Given the description of an element on the screen output the (x, y) to click on. 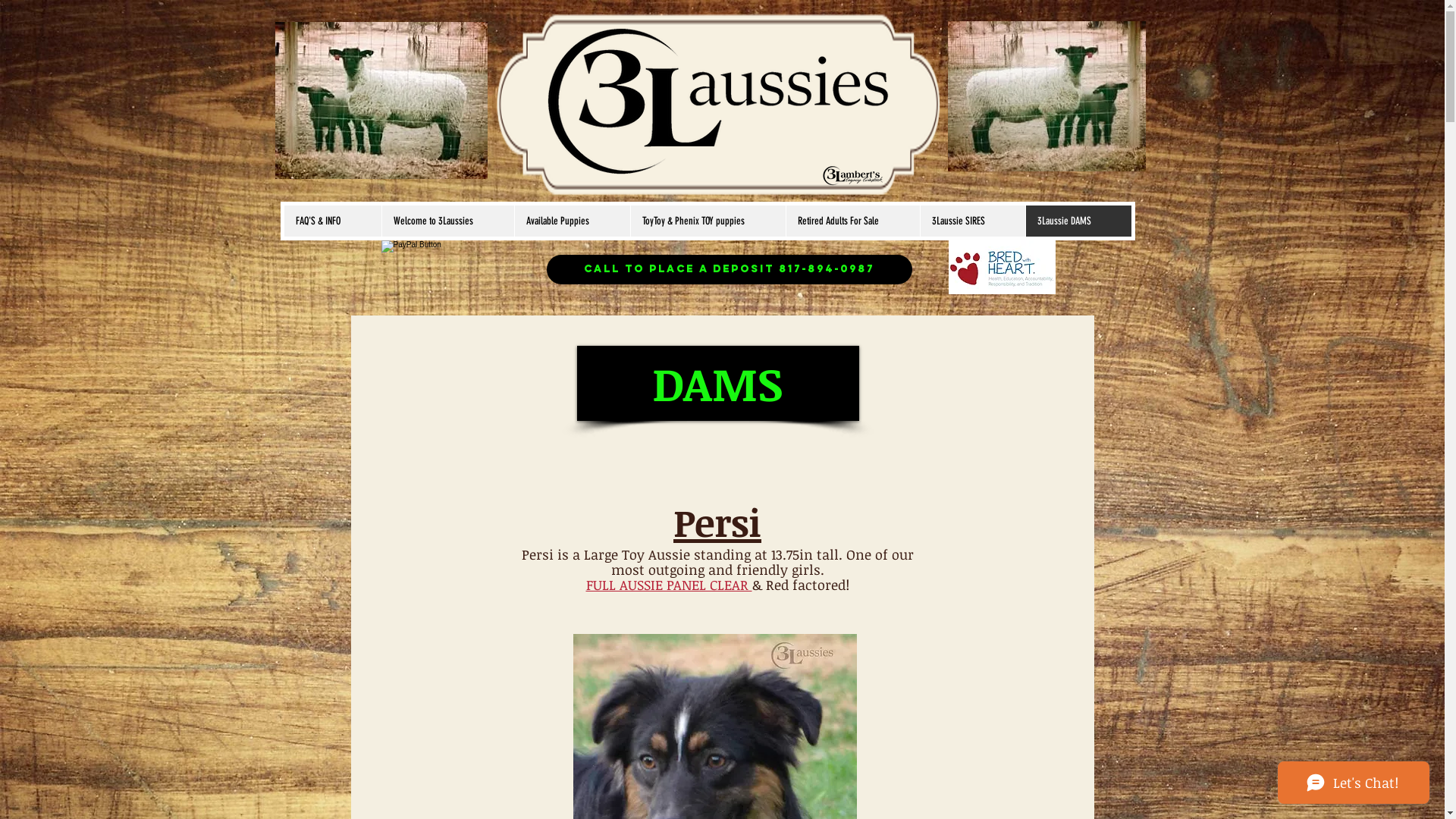
Available Puppies Element type: text (572, 220)
FAQ'S & INFO Element type: text (331, 220)
Welcome to 3Laussies Element type: text (446, 220)
images-4.jpeg Element type: hover (380, 99)
3Laussie SIRES Element type: text (971, 220)
3Laussie DAMS Element type: text (1078, 220)
Retired Adults For Sale Element type: text (852, 220)
images-4.jpeg Element type: hover (1046, 96)
ToyToy & Phenix TOY puppies Element type: text (706, 220)
